Given the description of an element on the screen output the (x, y) to click on. 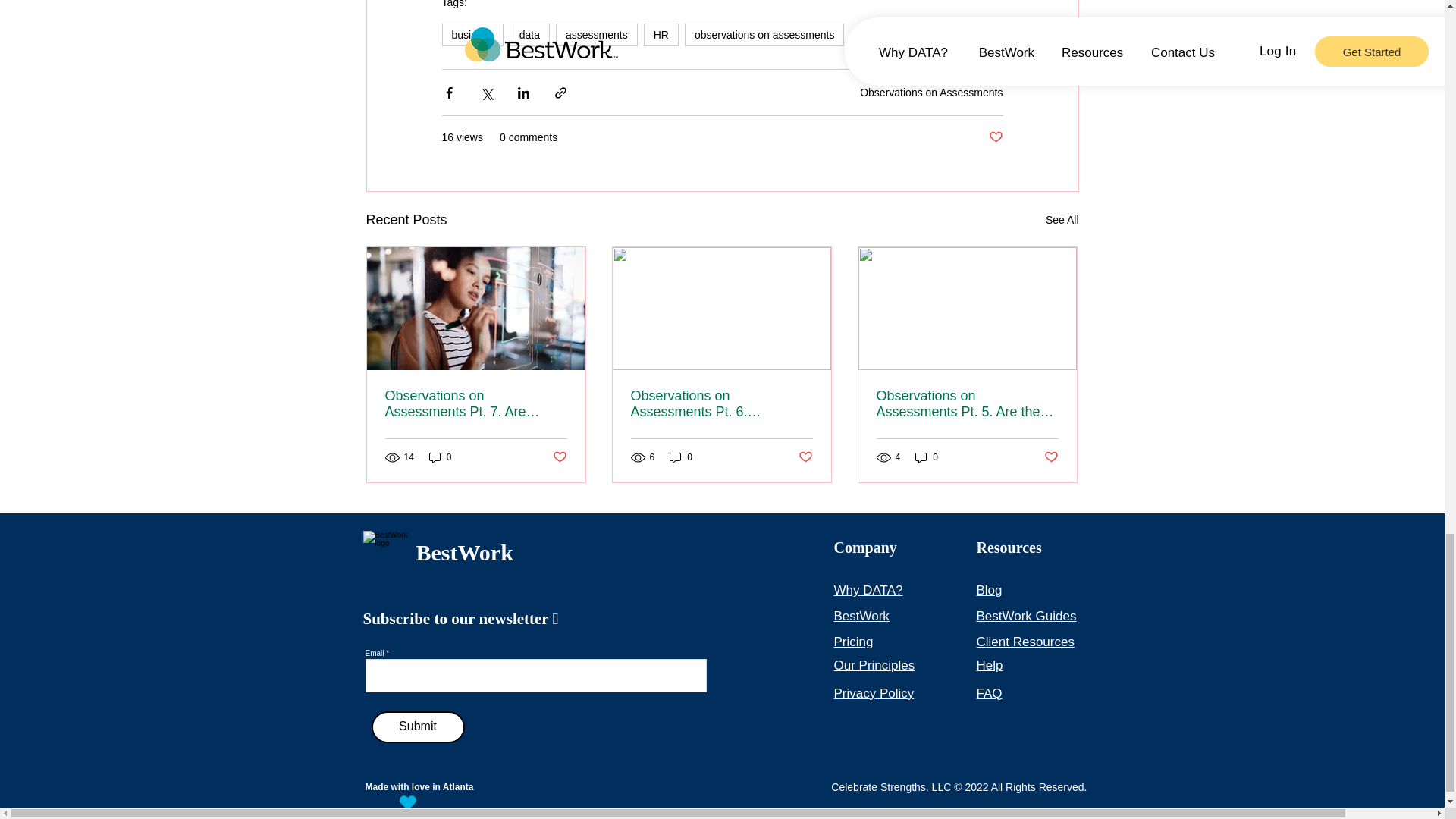
BestWork (861, 616)
assessments (596, 34)
Observations on Assessments Pt. 6. Homemade Assessments (721, 404)
0 (926, 457)
Post not marked as liked (804, 457)
observations on assessments (764, 34)
HR (660, 34)
Pricing (853, 641)
0 (440, 457)
